Given the description of an element on the screen output the (x, y) to click on. 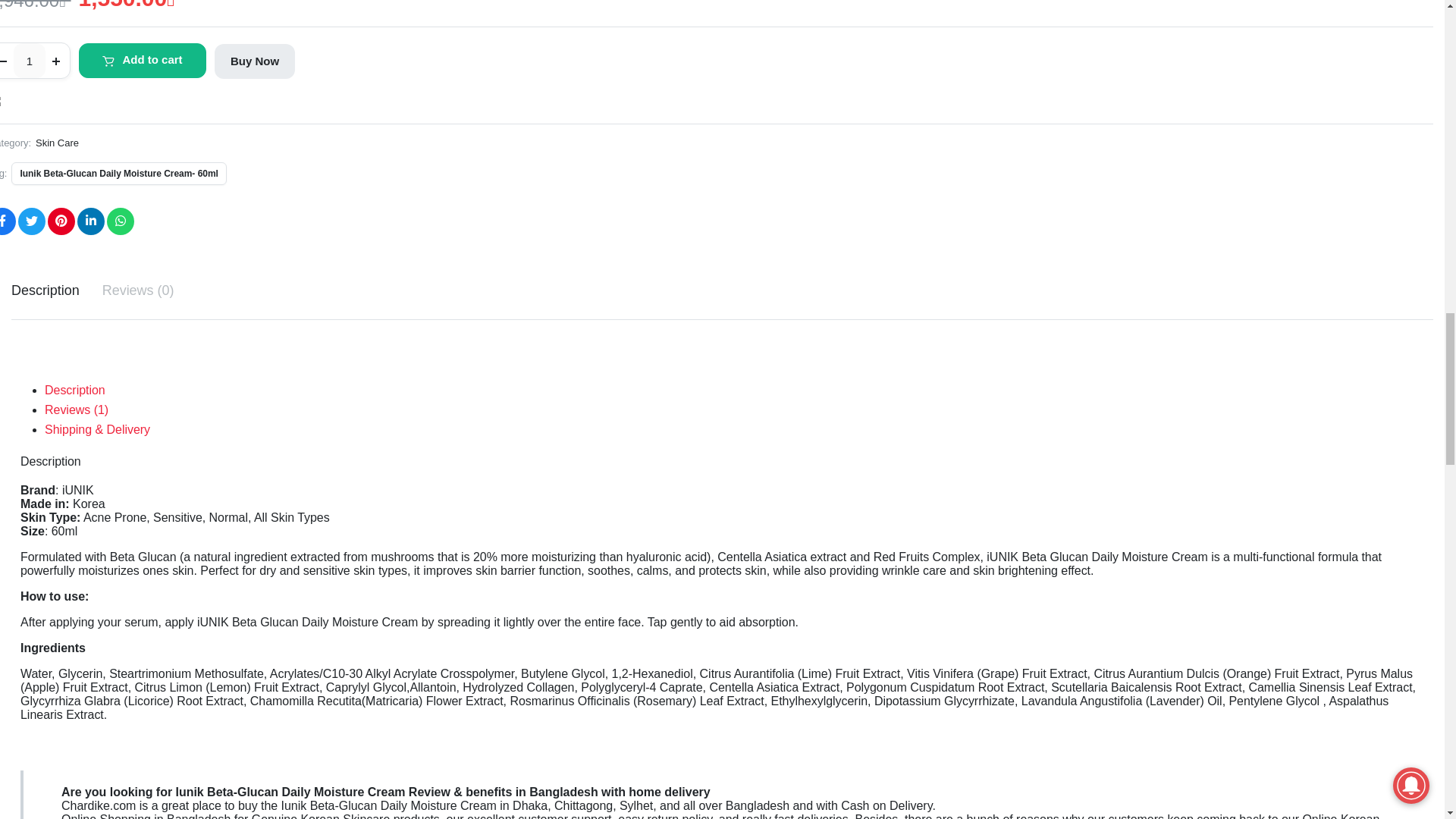
Iunik Beta-Glucan Daily Moisture Cream- 60ml (118, 173)
Skin Care (56, 142)
Buy Now (254, 61)
Description (74, 390)
1 (29, 60)
Description (45, 290)
Add to cart (141, 60)
